Given the description of an element on the screen output the (x, y) to click on. 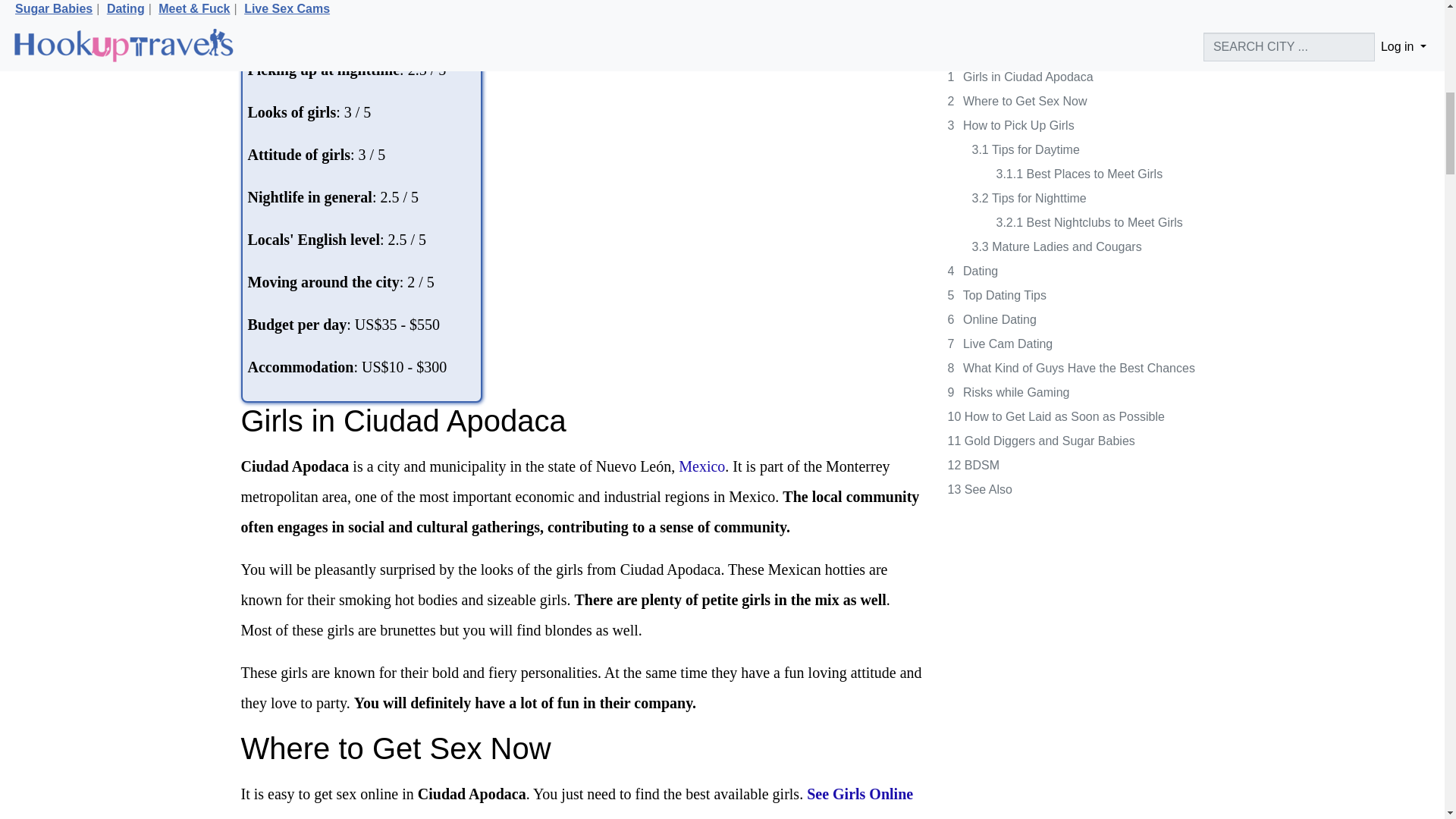
Mexico (701, 466)
Mexico (701, 466)
See Girls Online Here! (577, 802)
